Given the description of an element on the screen output the (x, y) to click on. 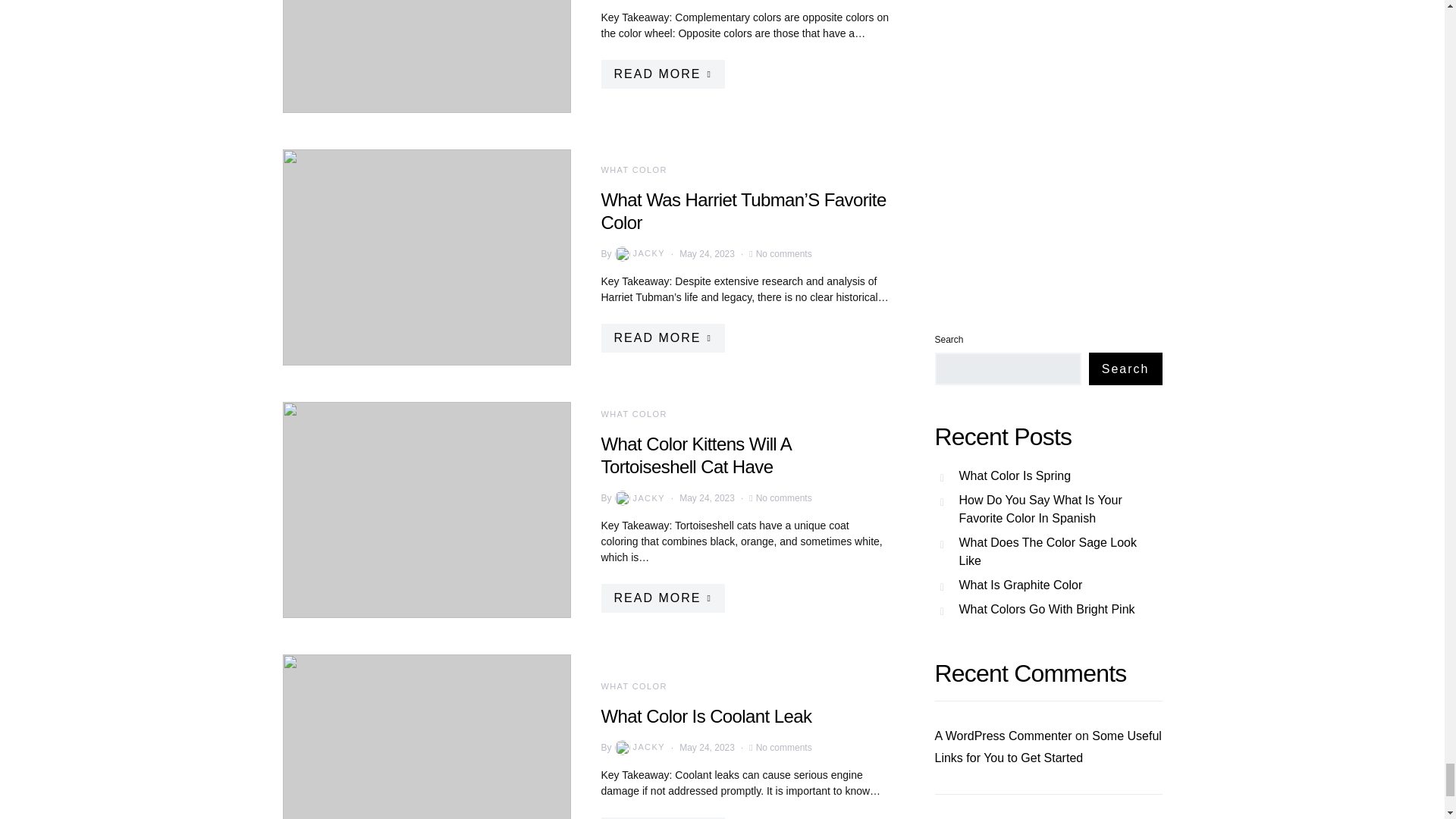
View all posts by Jacky (638, 498)
View all posts by Jacky (638, 253)
View all posts by Jacky (638, 747)
READ MORE (661, 72)
